Given the description of an element on the screen output the (x, y) to click on. 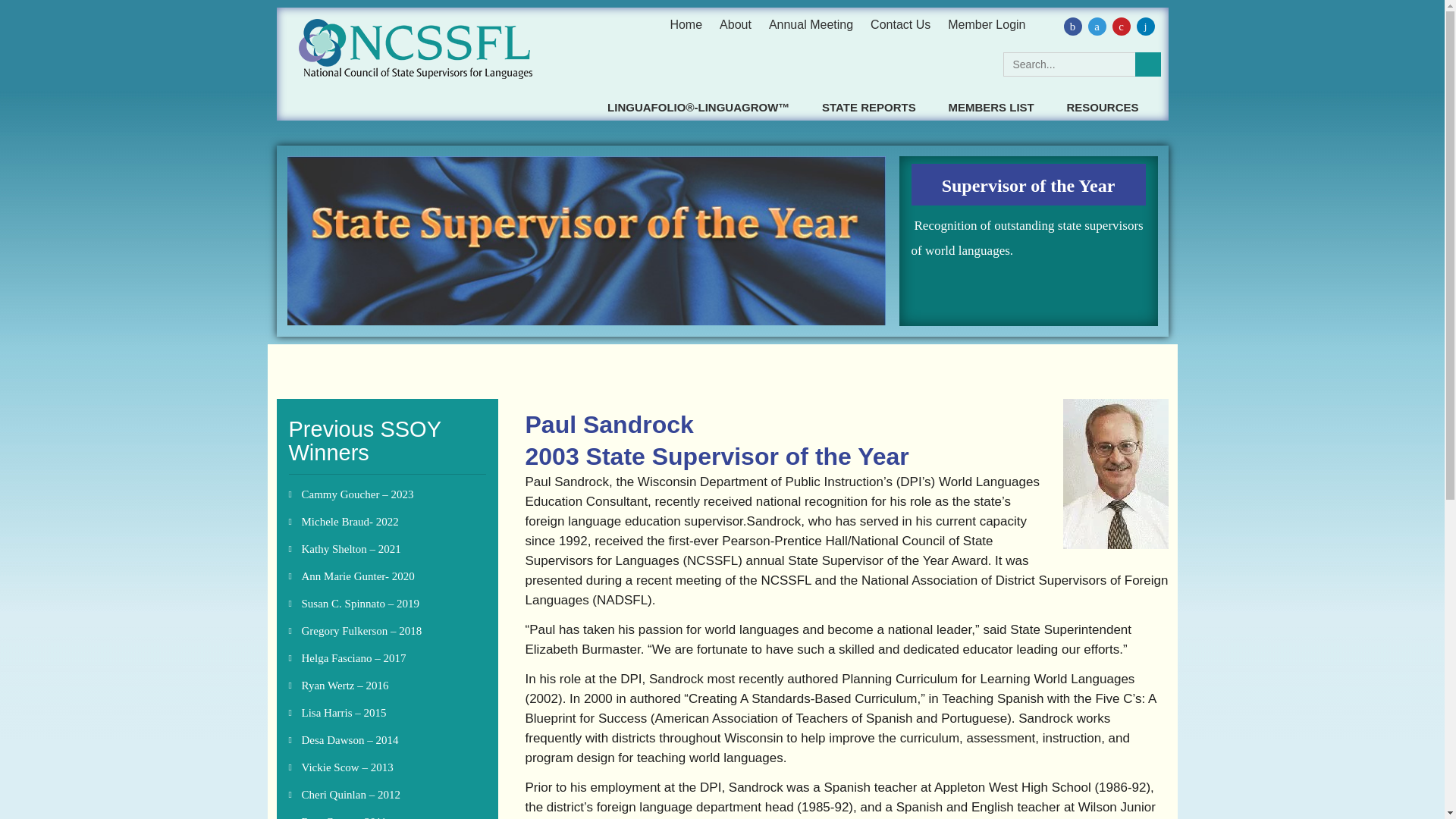
a (1096, 26)
Home (685, 24)
MEMBERS LIST (990, 107)
Michele Braud- 2022 (349, 521)
Annual Meeting (810, 24)
About (735, 24)
Ann Marie Gunter- 2020 (357, 576)
c (1120, 26)
STATE REPORTS (869, 107)
j (1144, 26)
